Given the description of an element on the screen output the (x, y) to click on. 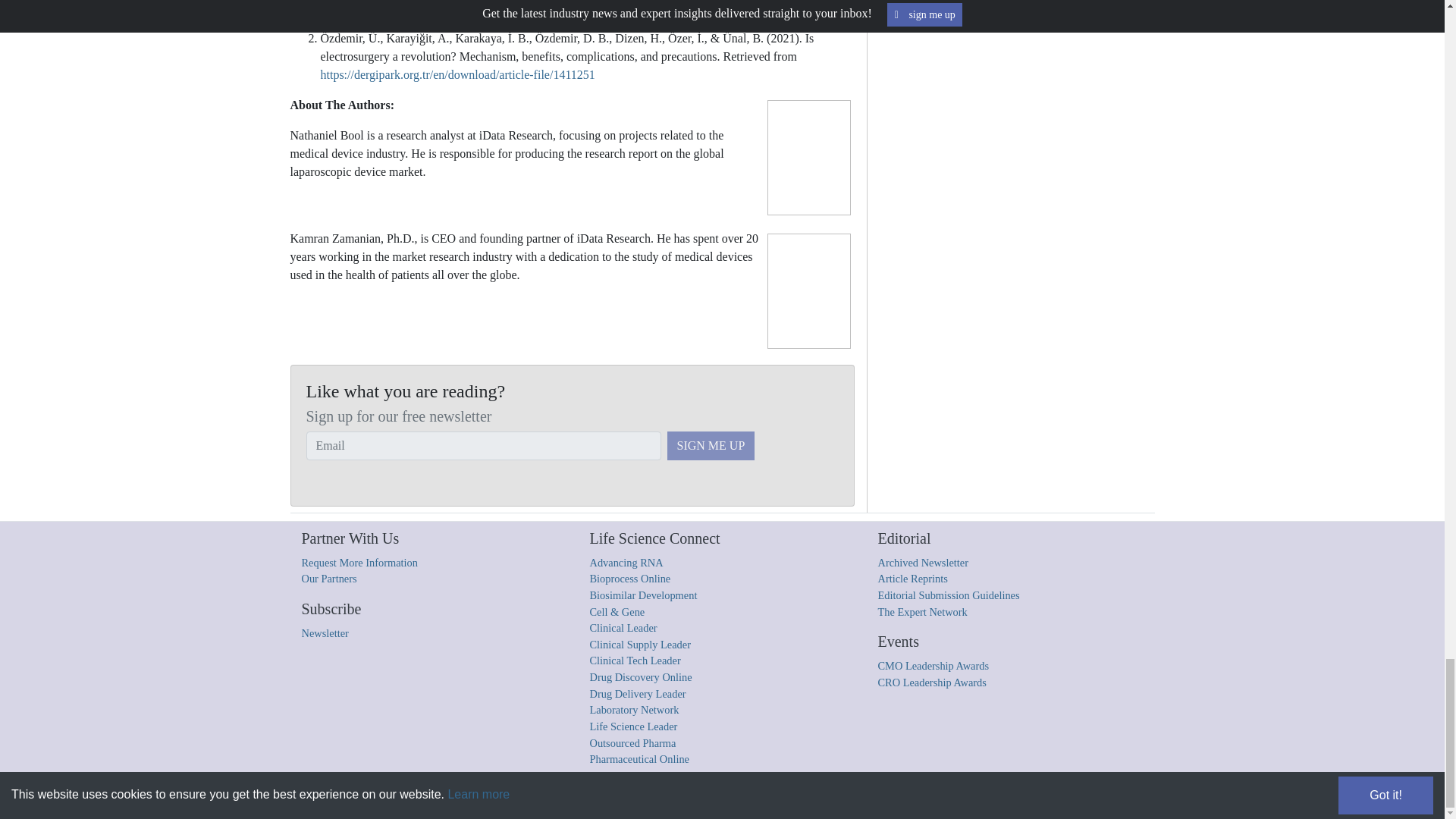
SIGN ME UP (710, 445)
